Given the description of an element on the screen output the (x, y) to click on. 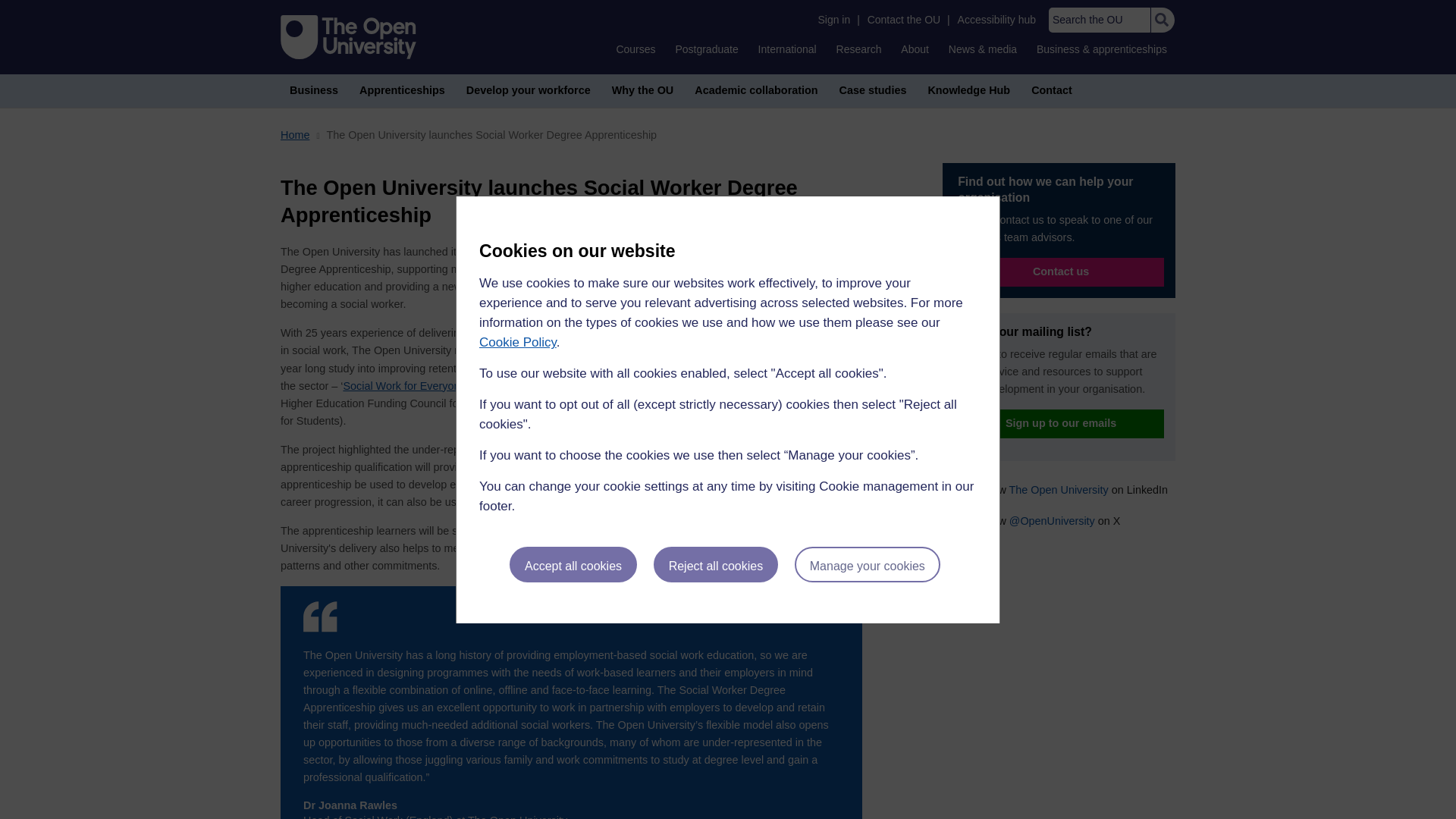
Accessibility hub (997, 19)
The Open University (348, 36)
International (787, 49)
Sign in (833, 19)
Search (1161, 19)
Postgraduate (705, 49)
Courses (635, 49)
About (914, 49)
Cookie Policy (517, 341)
